Given the description of an element on the screen output the (x, y) to click on. 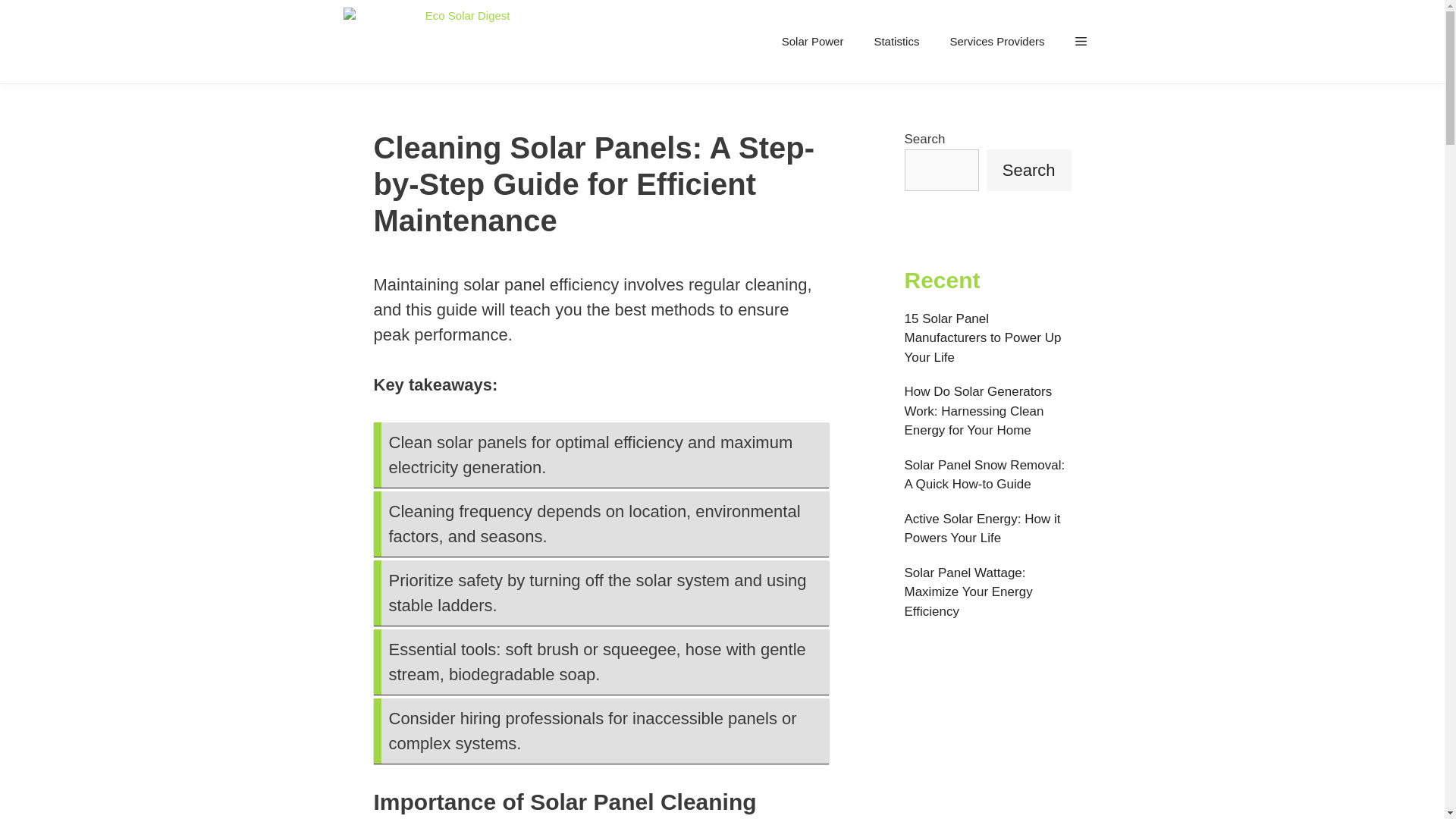
Search (1029, 169)
Active Solar Energy: How it Powers Your Life (981, 528)
Eco Solar Digest (425, 41)
Solar Panel Snow Removal: A Quick How-to Guide (984, 474)
Services Providers (996, 41)
15 Solar Panel Manufacturers to Power Up Your Life (982, 337)
Solar Power (813, 41)
Solar Panel Wattage: Maximize Your Energy Efficiency (968, 592)
Statistics (896, 41)
